Given the description of an element on the screen output the (x, y) to click on. 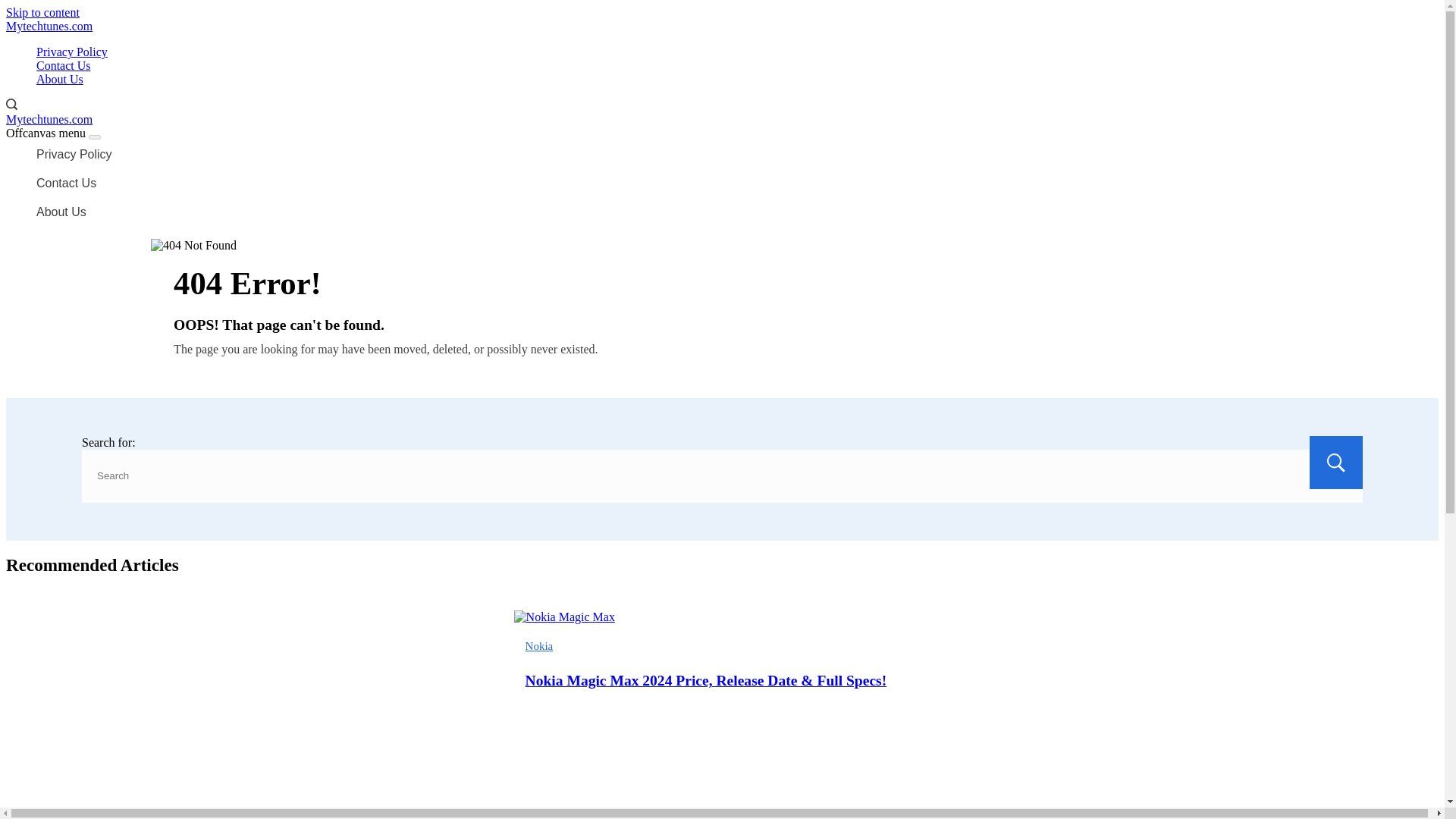
Contact Us (737, 183)
Search Input (721, 475)
Search (1335, 461)
Contact Us (63, 65)
Mytechtunes.com (49, 25)
About Us (737, 212)
About Us (59, 79)
Skip to content (42, 11)
Mytechtunes.com (49, 119)
Privacy Policy (737, 154)
Search (1335, 461)
Nokia (539, 645)
Search (1335, 461)
Privacy Policy (71, 51)
